Given the description of an element on the screen output the (x, y) to click on. 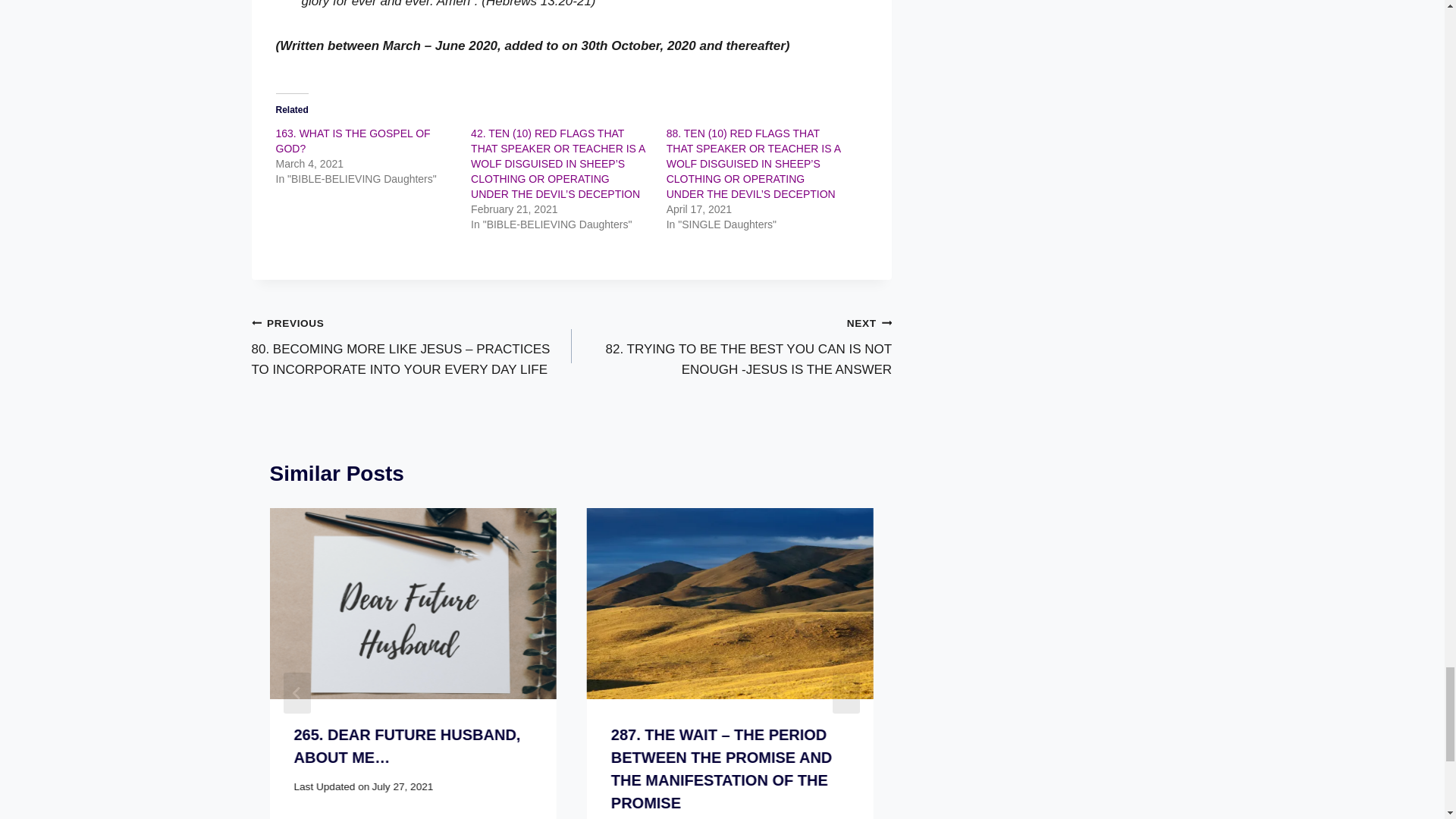
163. WHAT IS THE GOSPEL OF GOD? (353, 140)
163. WHAT IS THE GOSPEL OF GOD? (353, 140)
